Given the description of an element on the screen output the (x, y) to click on. 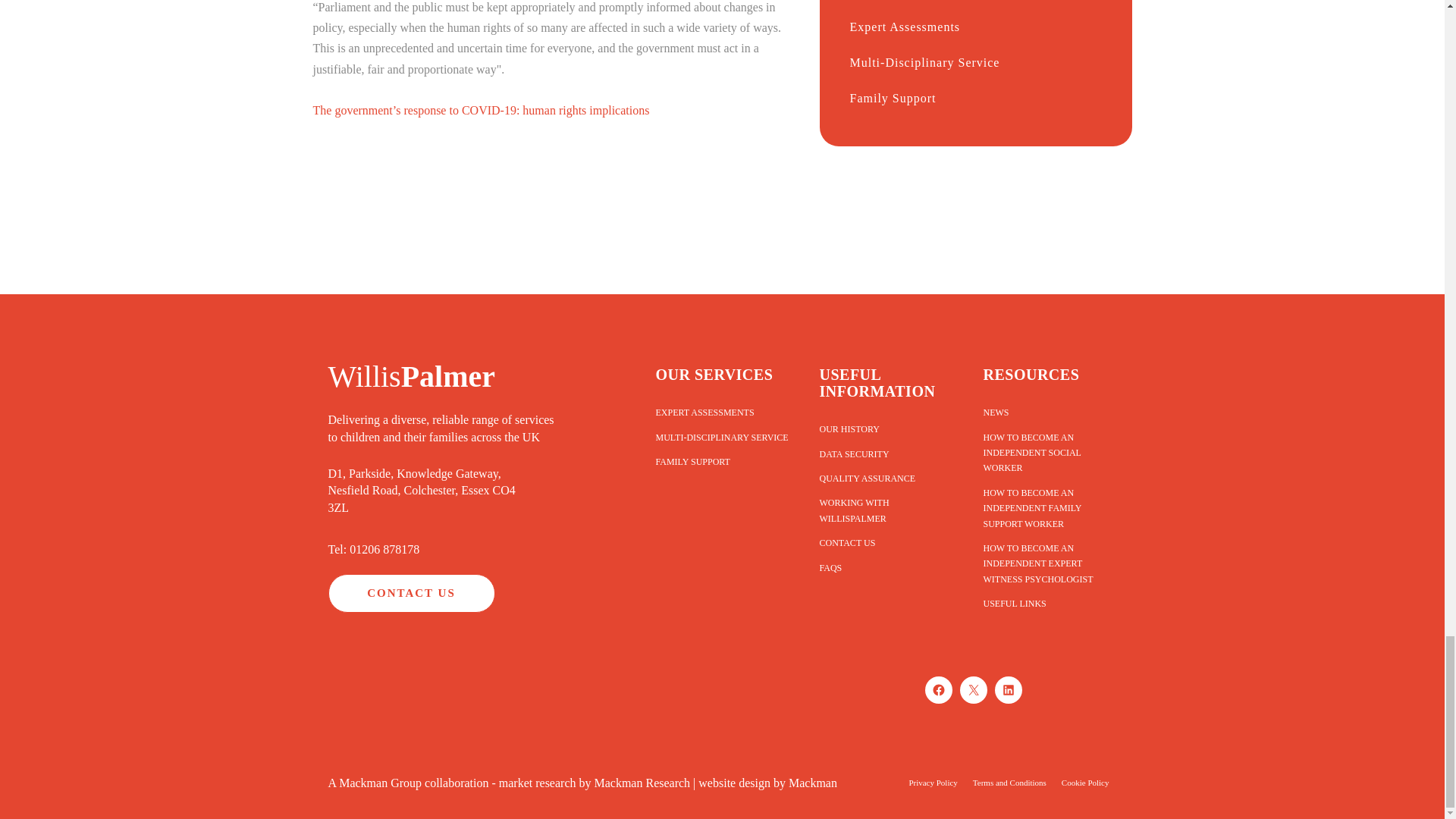
MULTI-DISCIPLINARY SERVICE (721, 437)
WORKING WITH WILLISPALMER (885, 510)
FAMILY SUPPORT (721, 461)
Tel: 01206 878178 (373, 549)
OUR HISTORY (885, 428)
EXPERT ASSESSMENTS (721, 412)
DATA SECURITY (885, 454)
CONTACT US (411, 593)
QUALITY ASSURANCE (885, 478)
